Given the description of an element on the screen output the (x, y) to click on. 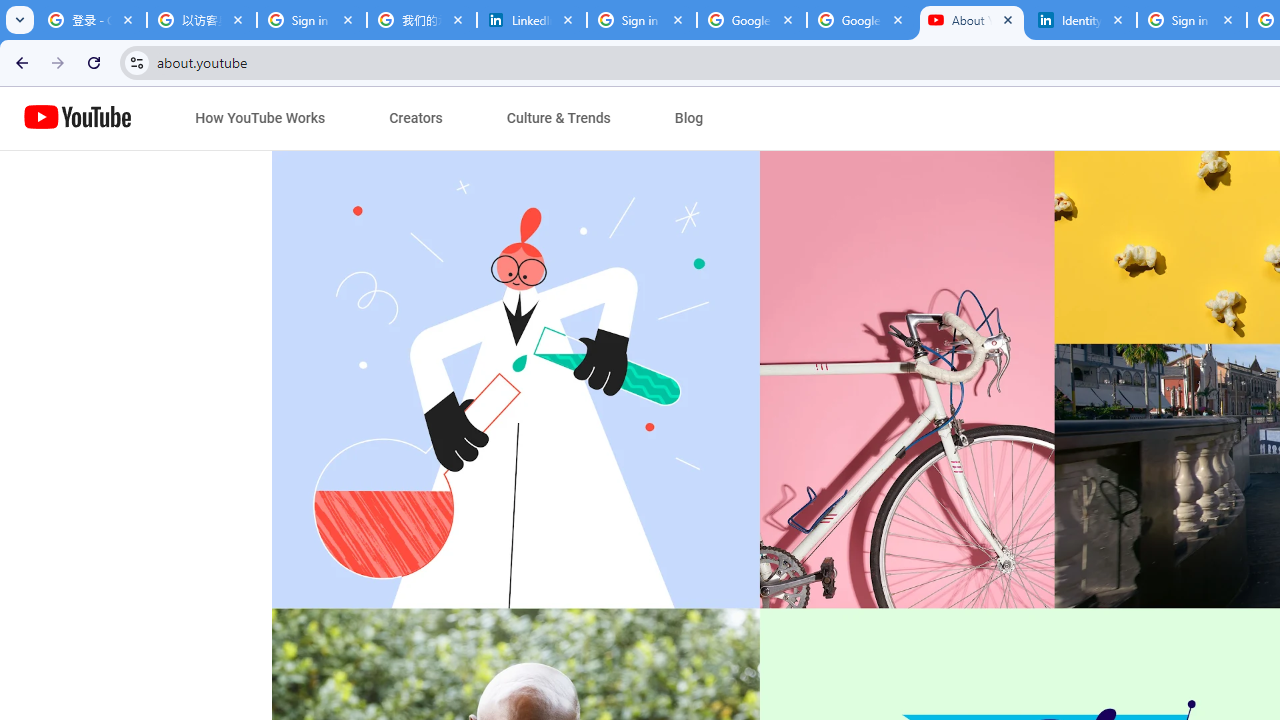
Sign in - Google Accounts (642, 20)
Home page link (77, 118)
Culture & Trends (557, 118)
Sign in - Google Accounts (1191, 20)
LinkedIn Privacy Policy (532, 20)
